Given the description of an element on the screen output the (x, y) to click on. 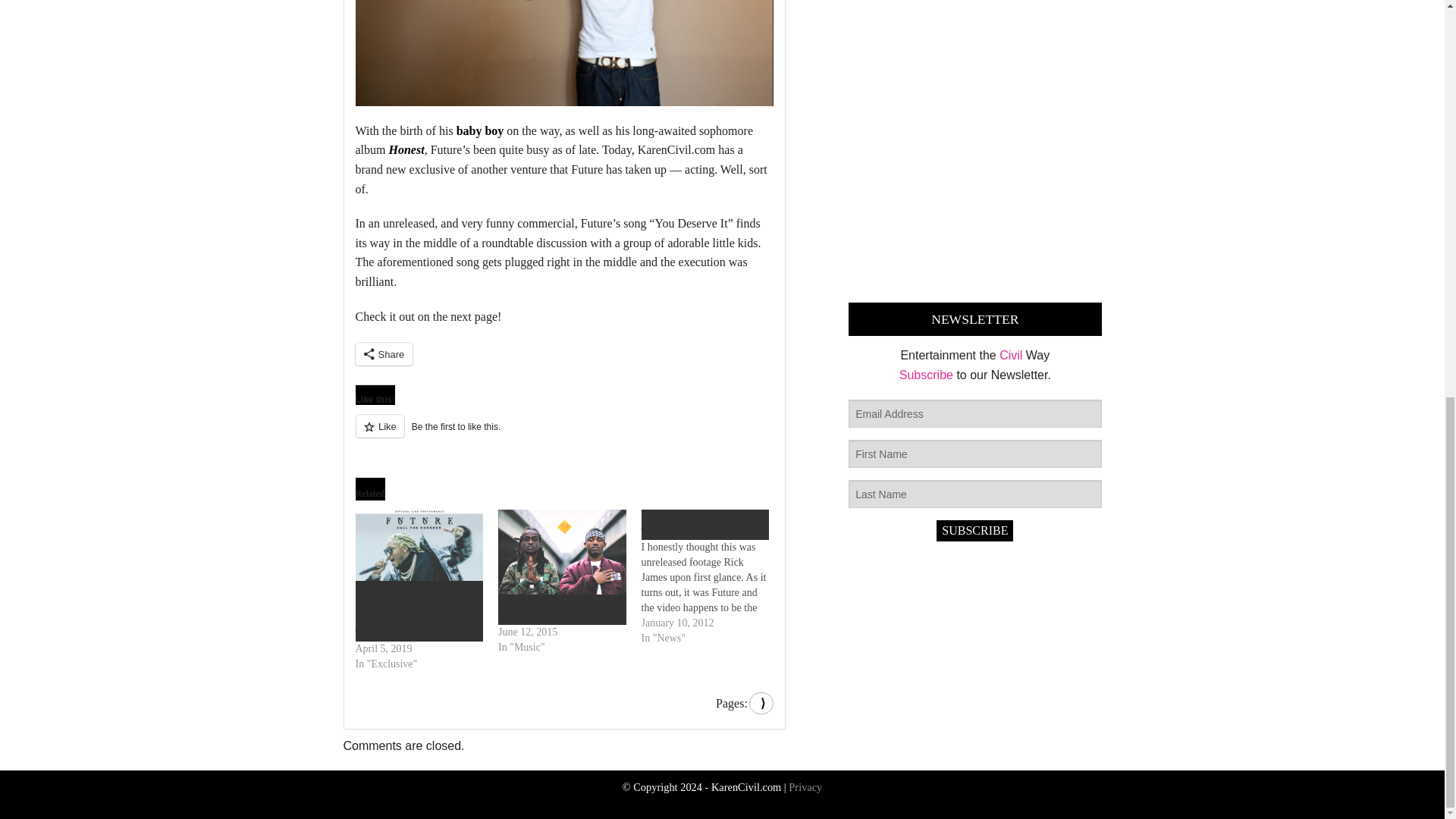
SUBSCRIBE (974, 530)
Like or Reblog (564, 434)
Share (383, 354)
Privacy (805, 787)
SUBSCRIBE (974, 530)
baby boy (480, 130)
Honest (405, 149)
